Given the description of an element on the screen output the (x, y) to click on. 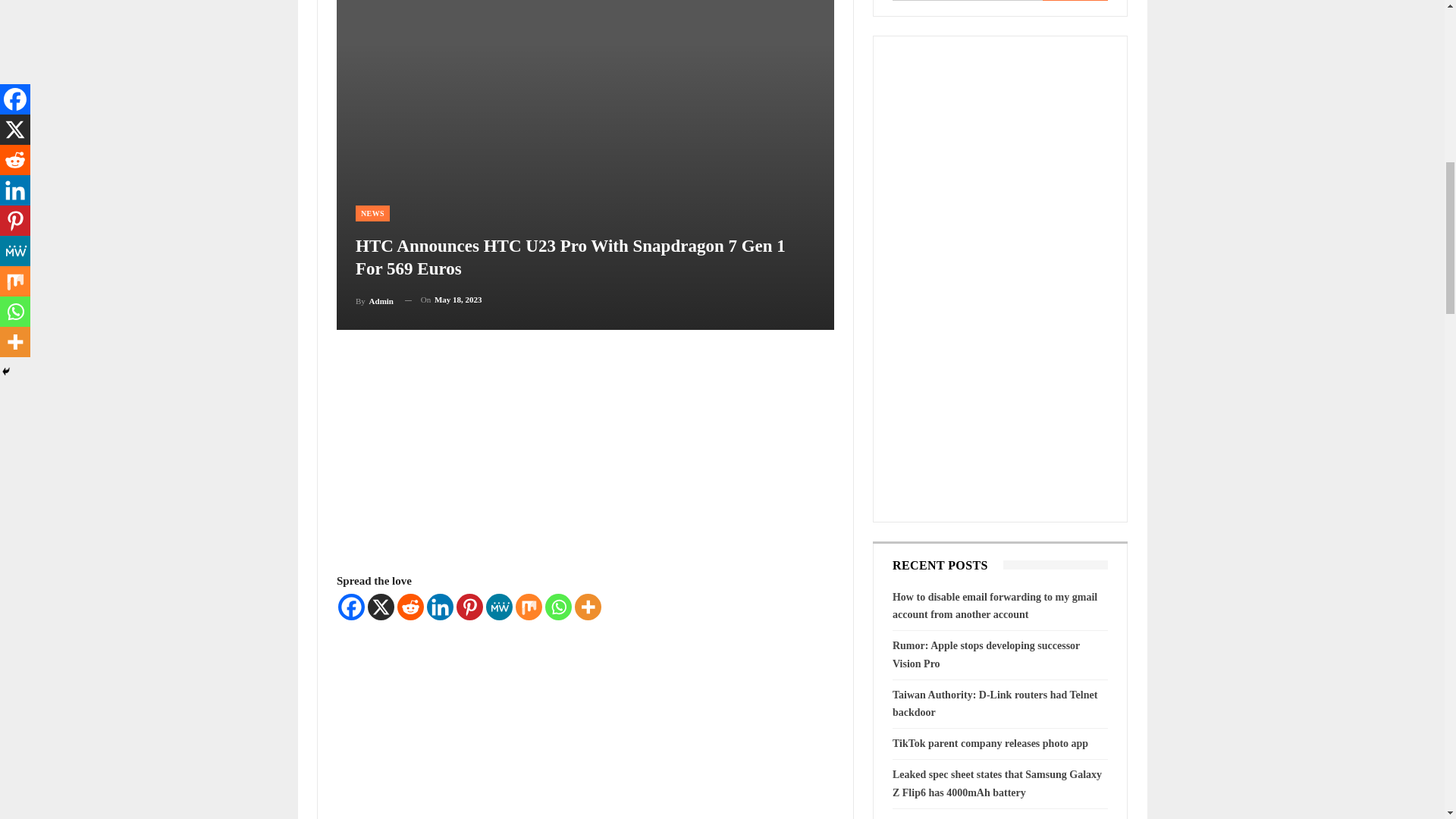
Facebook (351, 605)
MeWe (499, 605)
Pinterest (470, 605)
X (381, 605)
Browse Author Articles (374, 299)
Linkedin (439, 605)
By Admin (374, 299)
More (588, 605)
Mix (528, 605)
Reddit (410, 605)
NEWS (372, 213)
Whatsapp (558, 605)
